Given the description of an element on the screen output the (x, y) to click on. 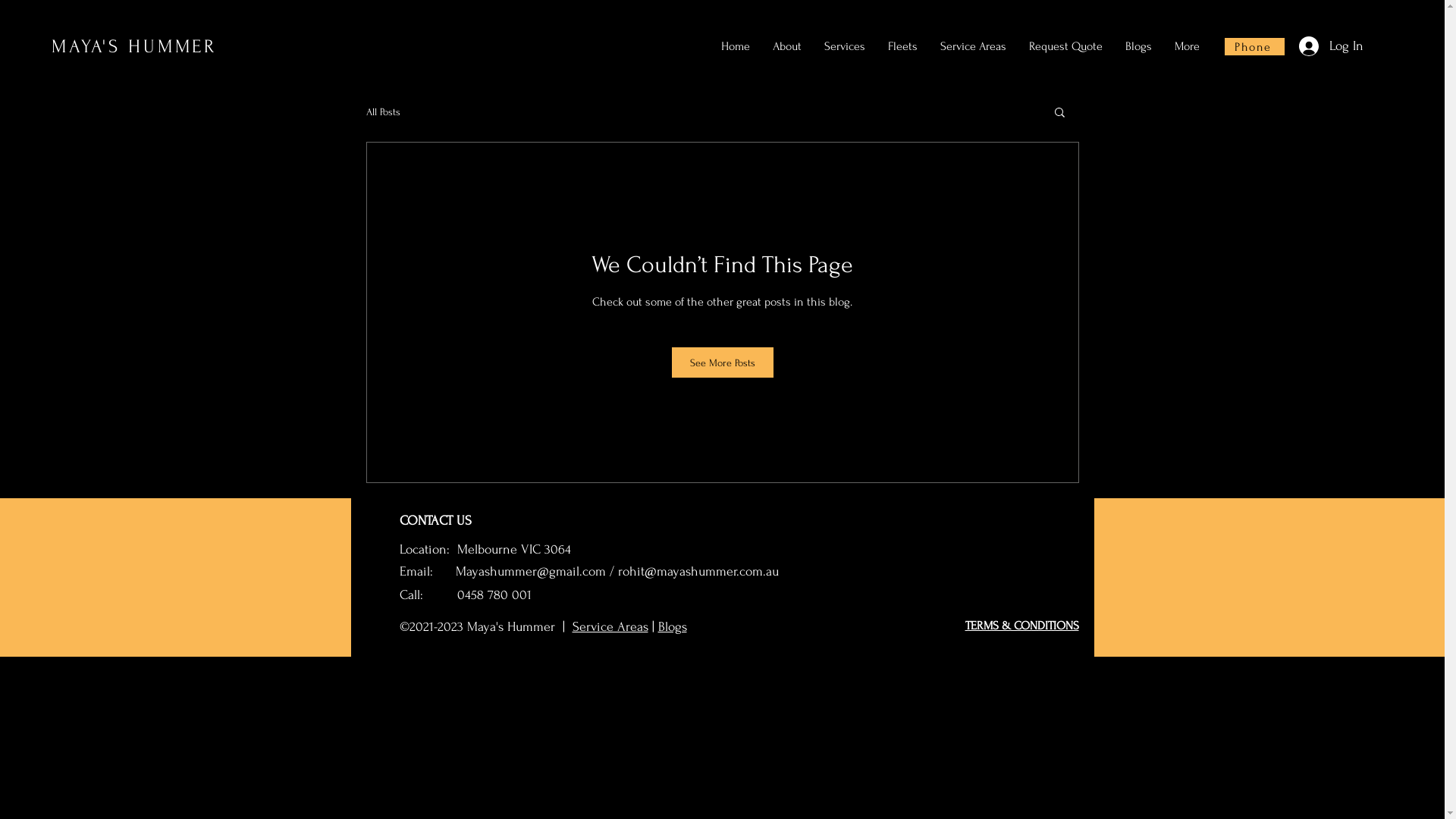
Home Element type: text (735, 46)
 0458 780 001 Element type: text (492, 594)
Blogs Element type: text (672, 626)
About Element type: text (786, 46)
rohit@mayashummer.com.au Element type: text (697, 571)
Log In Element type: text (1331, 45)
Mayashummer@gmail.com Element type: text (530, 571)
Service Areas Element type: text (609, 626)
MAYA'S HUMMER Element type: text (134, 46)
Service Areas Element type: text (972, 46)
Fleets Element type: text (902, 46)
TERMS & CONDITIONS Element type: text (1021, 625)
Services Element type: text (844, 46)
See More Posts Element type: text (722, 362)
Phone Element type: text (1254, 46)
Request Quote Element type: text (1065, 46)
All Posts Element type: text (382, 111)
Blogs Element type: text (1138, 46)
